Given the description of an element on the screen output the (x, y) to click on. 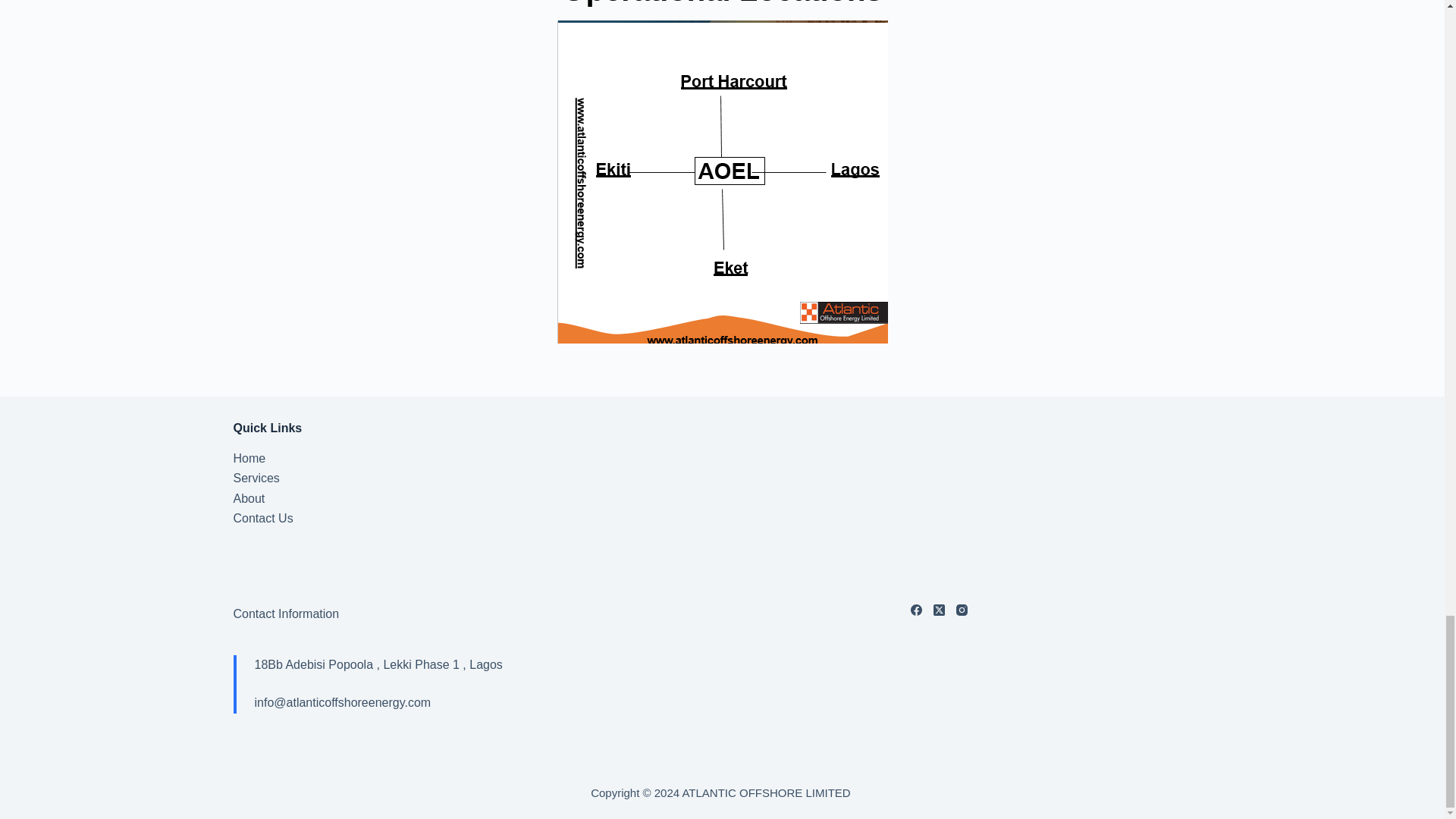
Contact Us (263, 517)
About (248, 498)
Services (255, 477)
Home (249, 458)
